Given the description of an element on the screen output the (x, y) to click on. 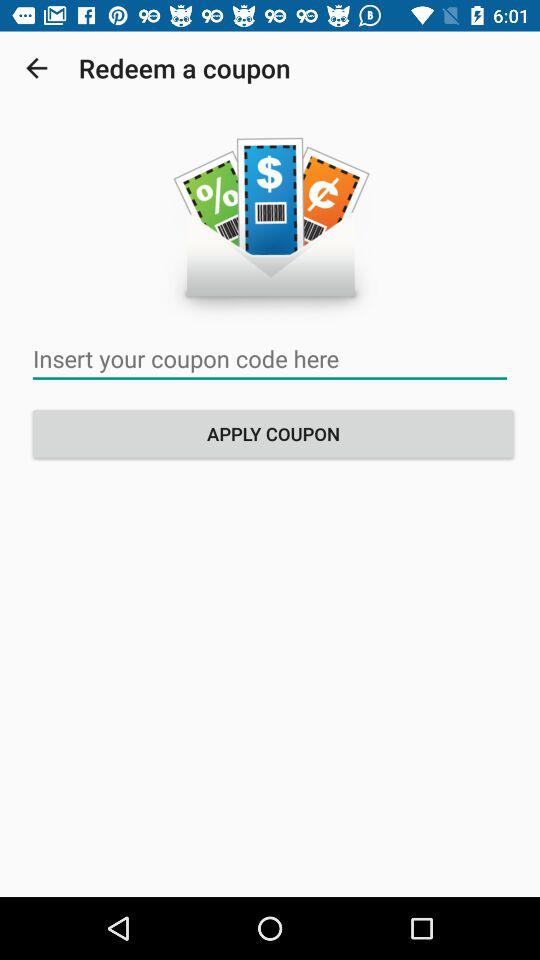
press the item to the left of redeem a coupon (36, 68)
